Given the description of an element on the screen output the (x, y) to click on. 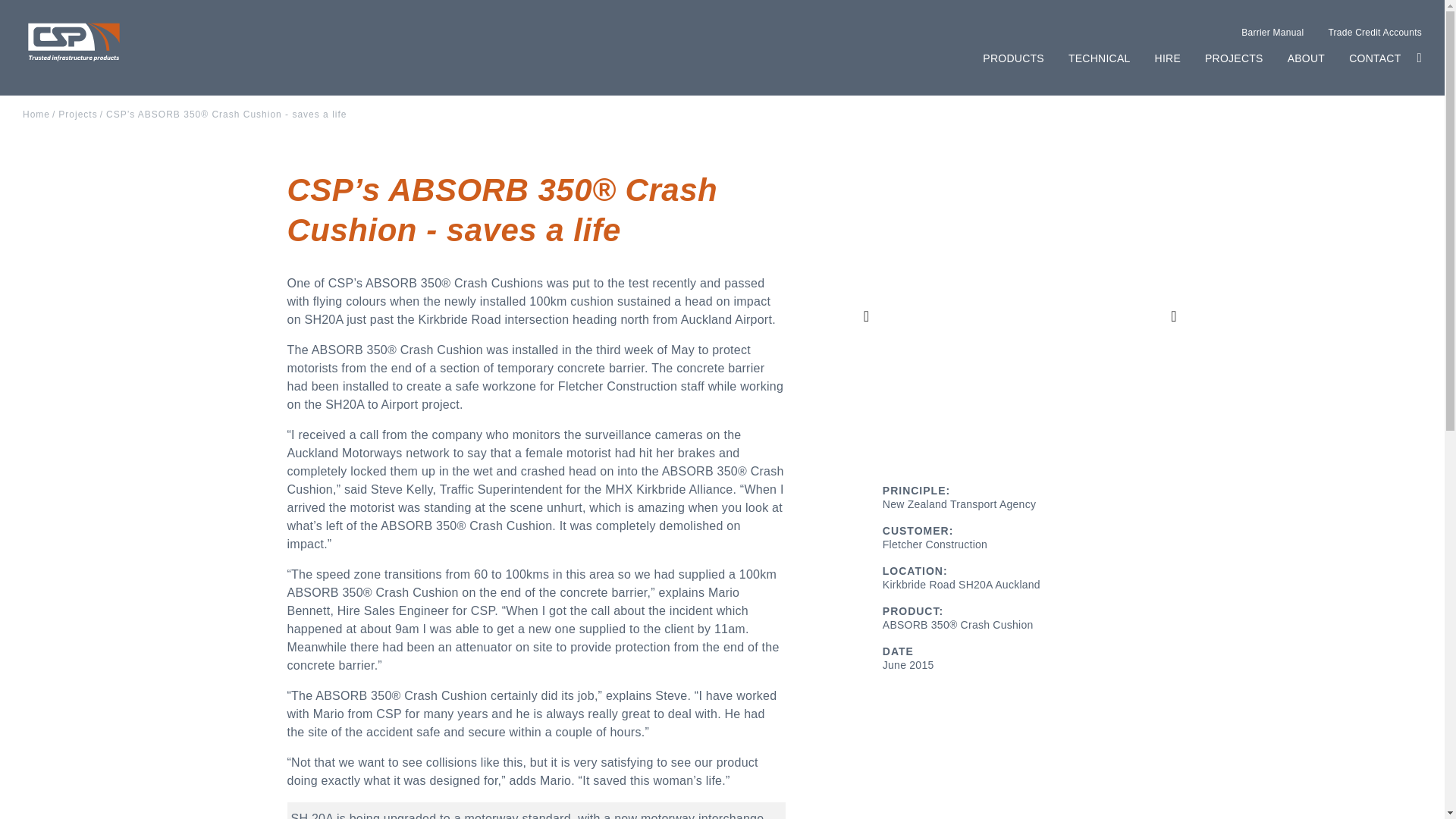
CSP (74, 42)
PRODUCTS (1014, 58)
15saves a life 01 (1019, 315)
